Given the description of an element on the screen output the (x, y) to click on. 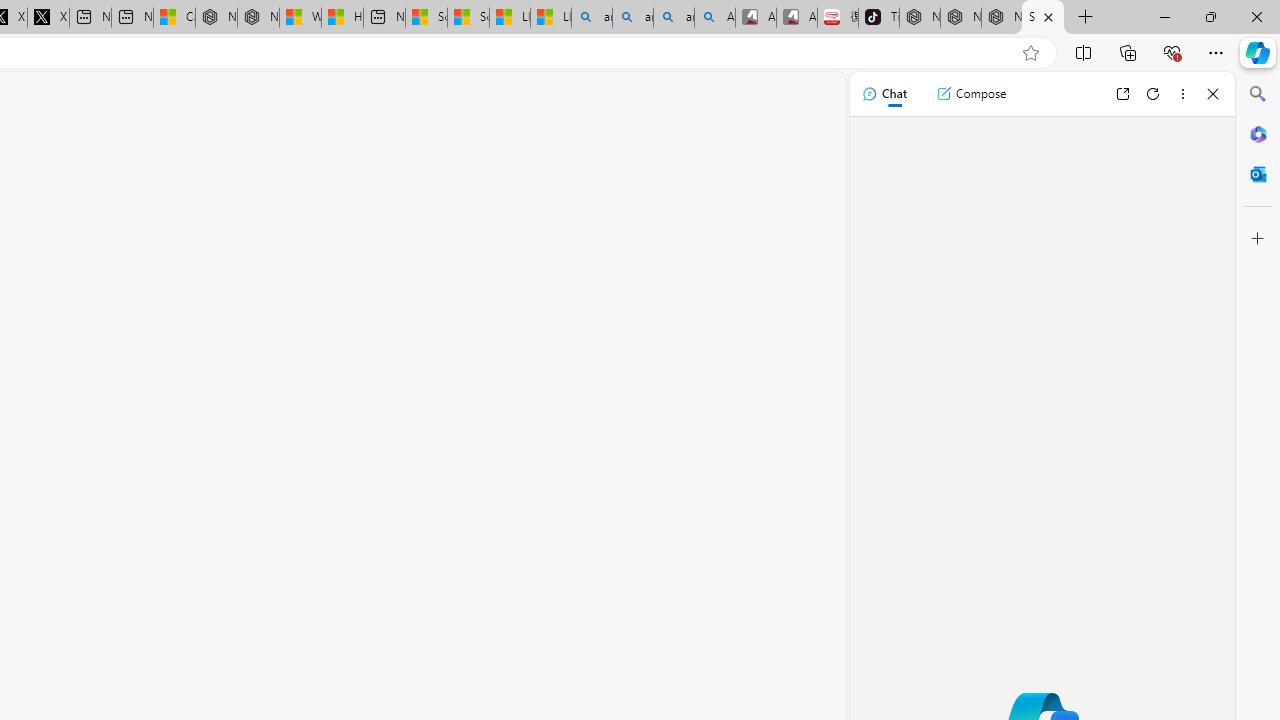
Chat (884, 93)
